Given the description of an element on the screen output the (x, y) to click on. 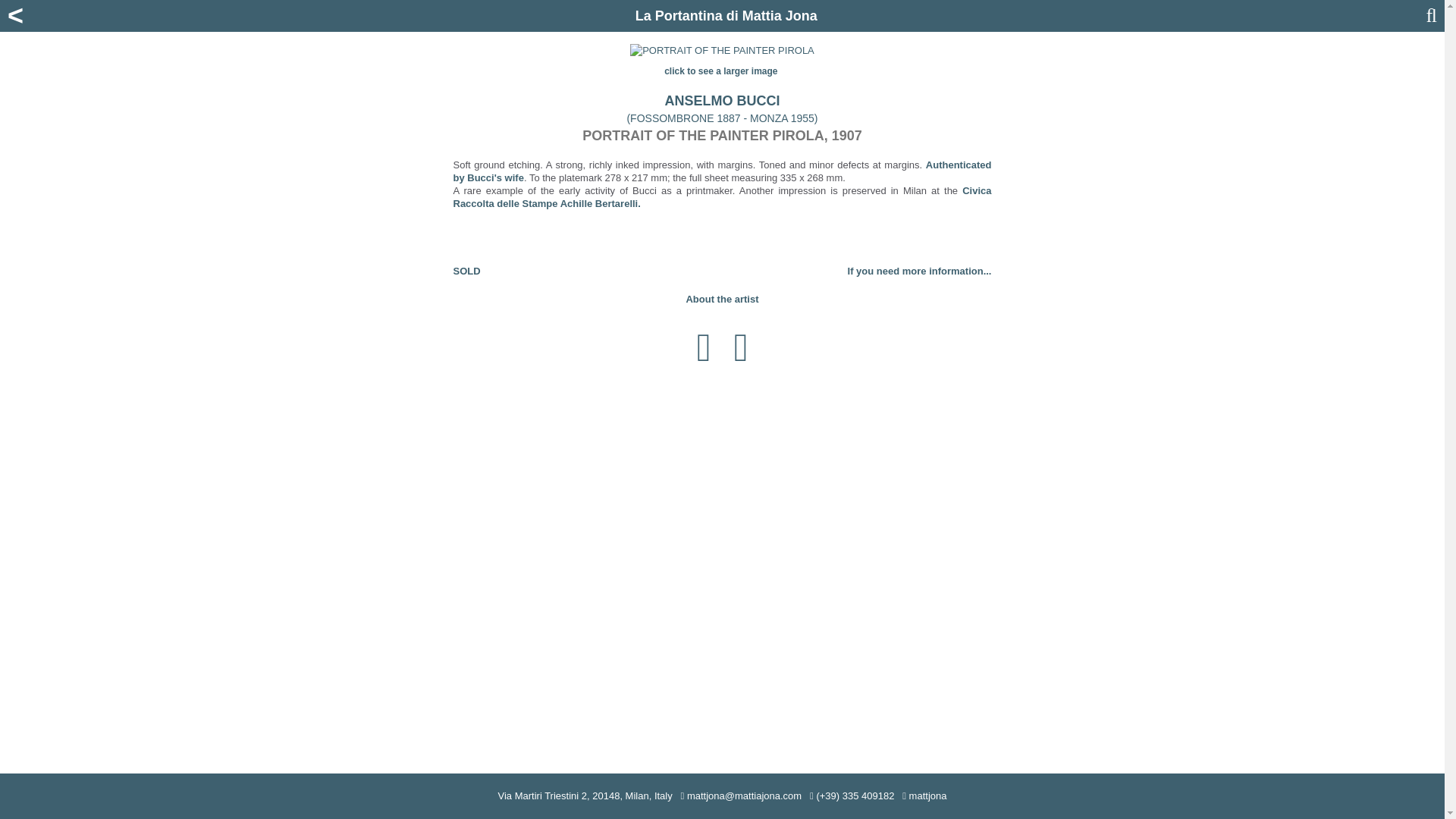
La Portantina di Mattia Jona (725, 15)
Civica Raccolta delle Stampe Achille Bertarelli. (721, 197)
If you need more information... (919, 270)
bucci pirola ref (721, 170)
About the artist (721, 298)
click to see a larger image  (721, 70)
Authenticated by Bucci's wife (721, 170)
Bertarelli (721, 197)
